Given the description of an element on the screen output the (x, y) to click on. 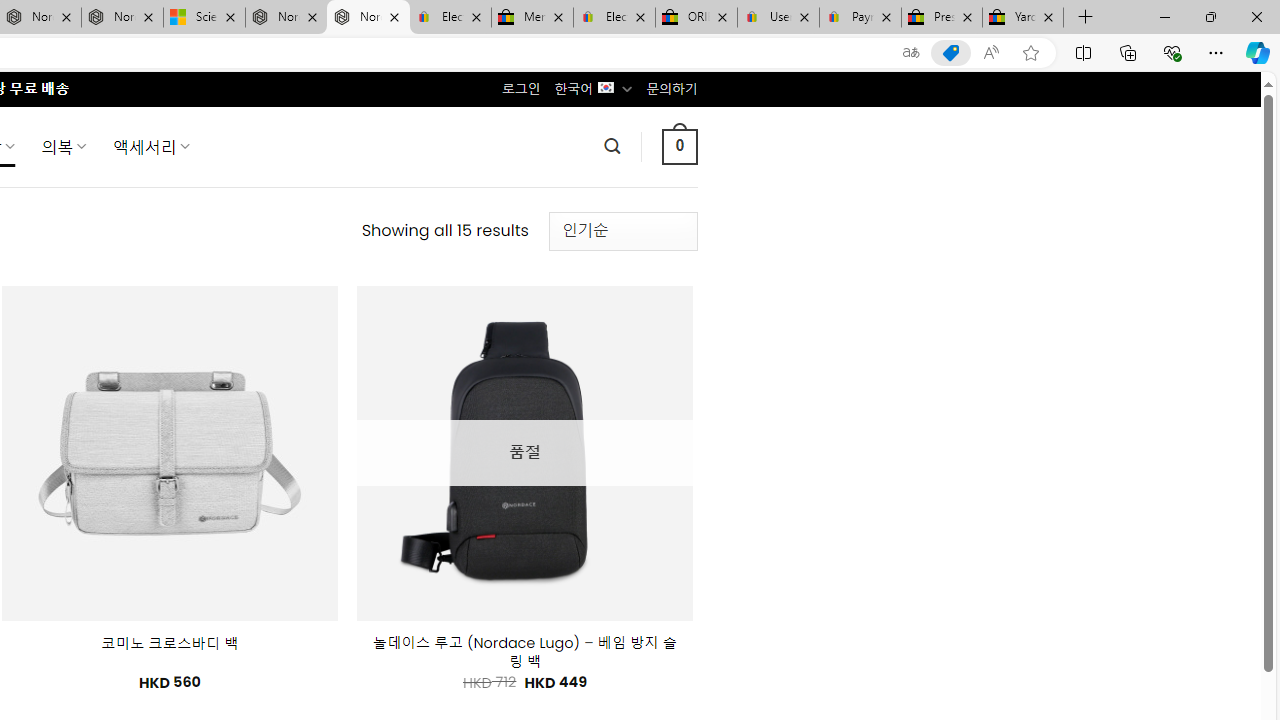
Payments Terms of Use | eBay.com (860, 17)
Press Room - eBay Inc. (941, 17)
 0  (679, 146)
This site has coupons! Shopping in Microsoft Edge, 5 (950, 53)
